Given the description of an element on the screen output the (x, y) to click on. 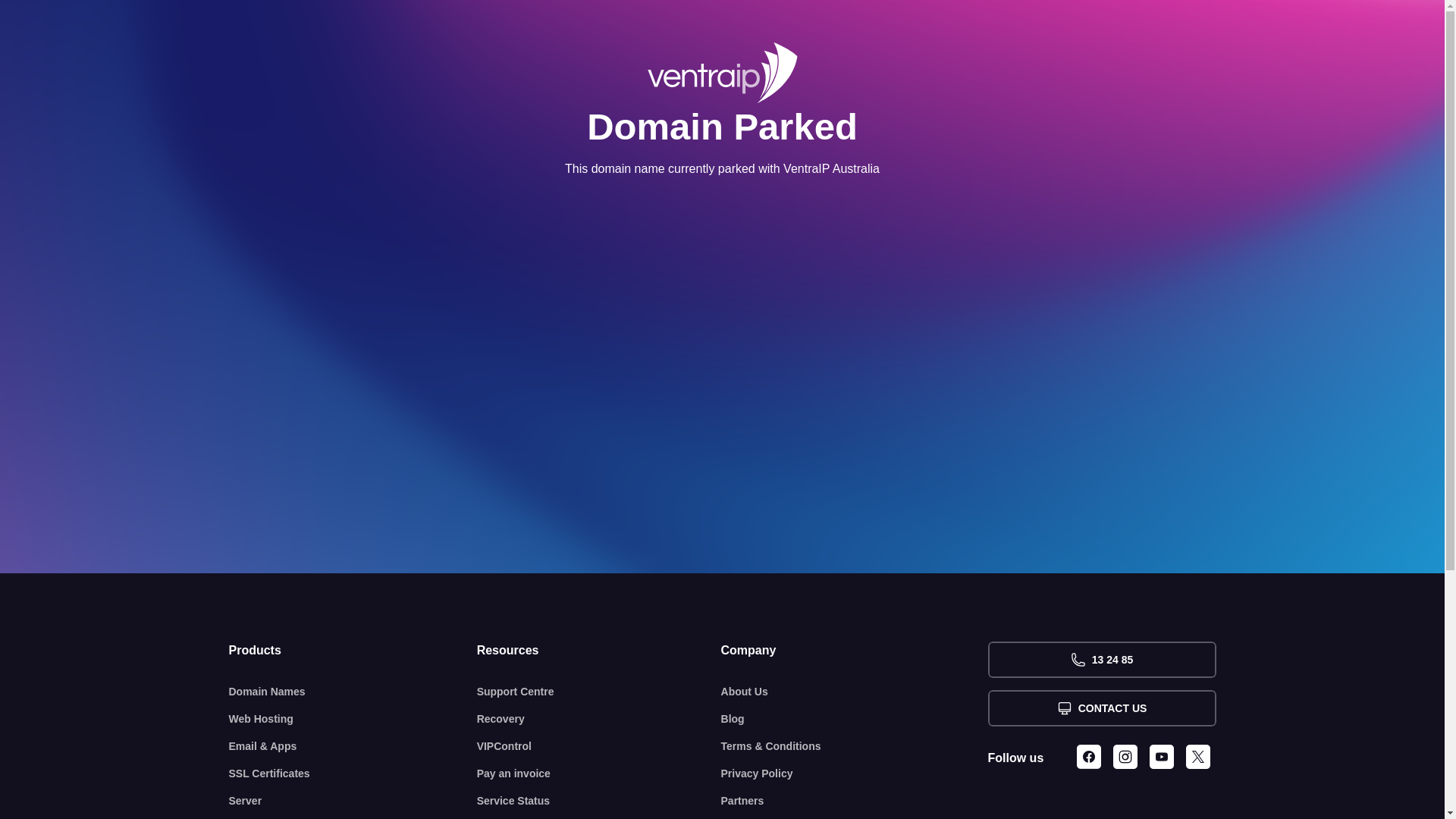
Domain Names Element type: text (352, 691)
About Us Element type: text (854, 691)
Service Status Element type: text (598, 800)
13 24 85 Element type: text (1101, 659)
Web Hosting Element type: text (352, 718)
Pay an invoice Element type: text (598, 773)
Terms & Conditions Element type: text (854, 745)
Support Centre Element type: text (598, 691)
Blog Element type: text (854, 718)
CONTACT US Element type: text (1101, 708)
Server Element type: text (352, 800)
Email & Apps Element type: text (352, 745)
Recovery Element type: text (598, 718)
VIPControl Element type: text (598, 745)
Privacy Policy Element type: text (854, 773)
SSL Certificates Element type: text (352, 773)
Partners Element type: text (854, 800)
